Given the description of an element on the screen output the (x, y) to click on. 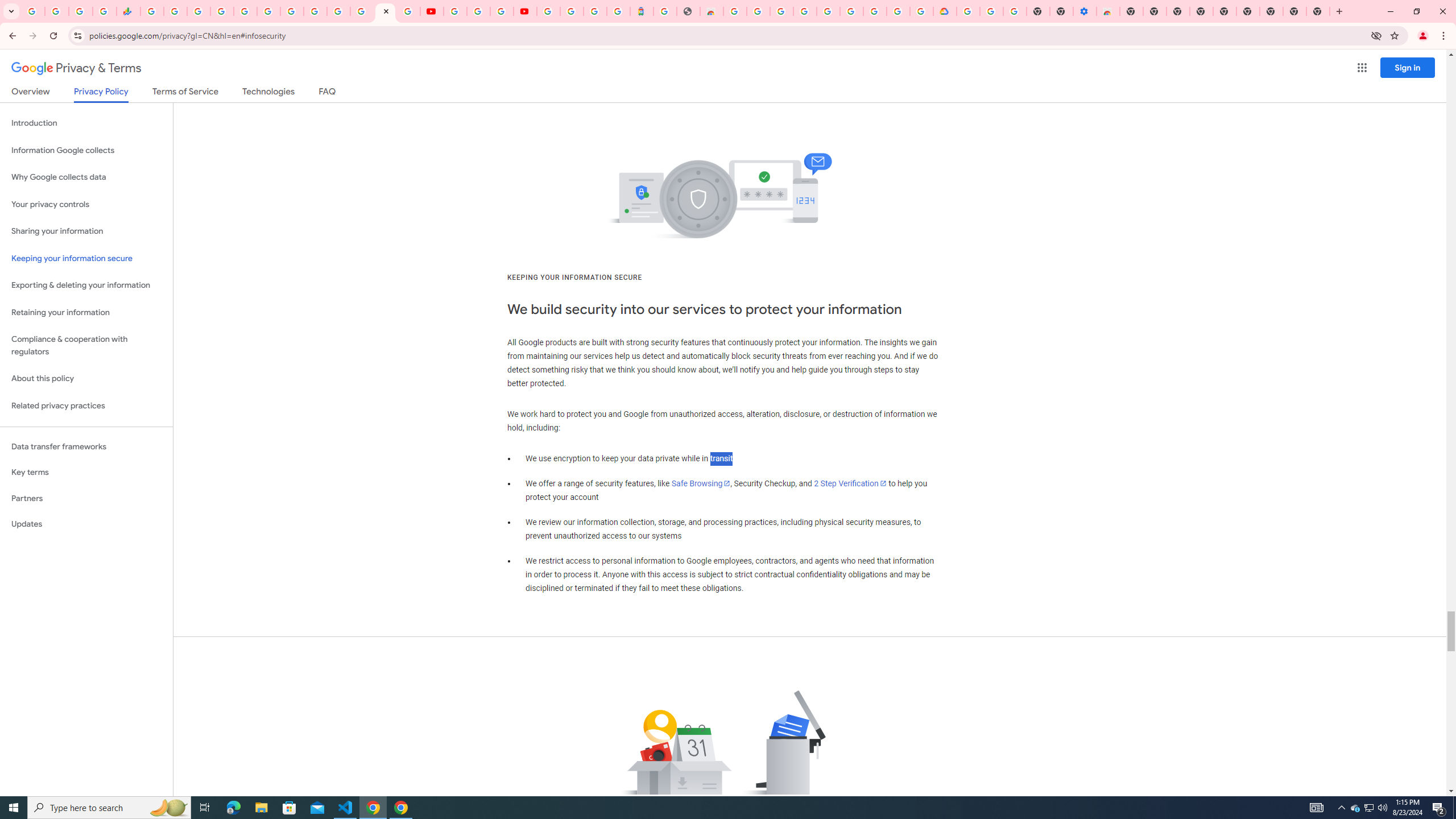
Why Google collects data (86, 176)
Privacy Checkup (408, 11)
Sign in - Google Accounts (968, 11)
Sharing your information (86, 230)
Overview (30, 93)
Android TV Policies and Guidelines - Transparency Center (291, 11)
Ad Settings (804, 11)
Partners (86, 497)
Create your Google Account (501, 11)
